Given the description of an element on the screen output the (x, y) to click on. 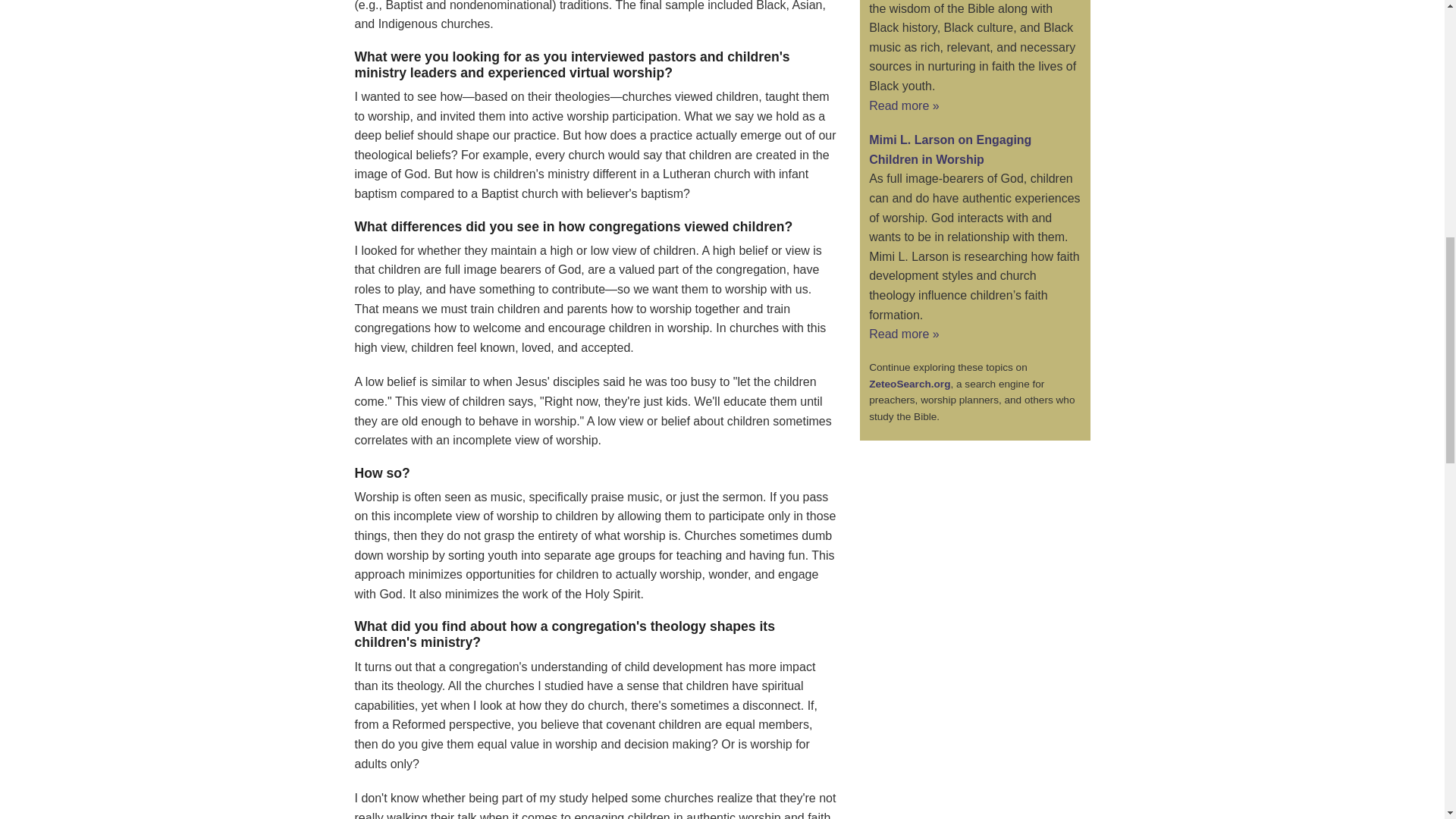
Read more... (949, 149)
Click to read more (904, 105)
Click to read more (904, 333)
